Given the description of an element on the screen output the (x, y) to click on. 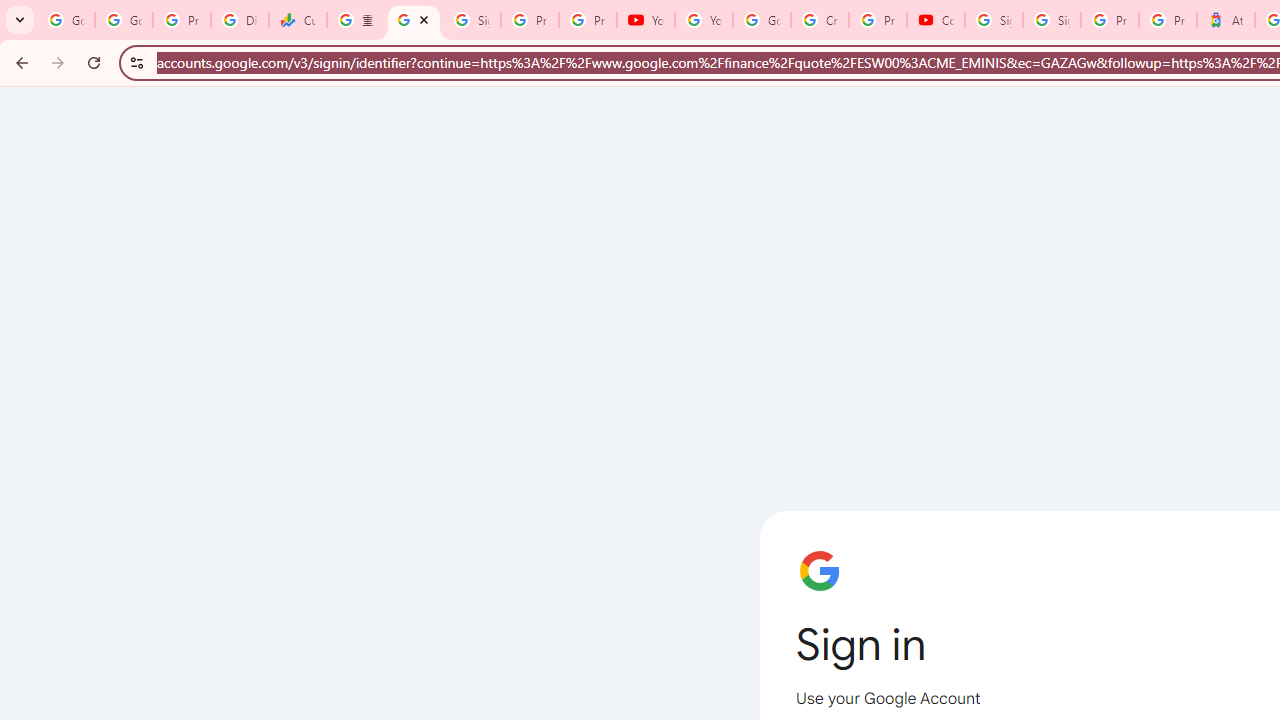
Sign in - Google Accounts (471, 20)
Google Account Help (762, 20)
YouTube (703, 20)
Currencies - Google Finance (297, 20)
Create your Google Account (819, 20)
